Given the description of an element on the screen output the (x, y) to click on. 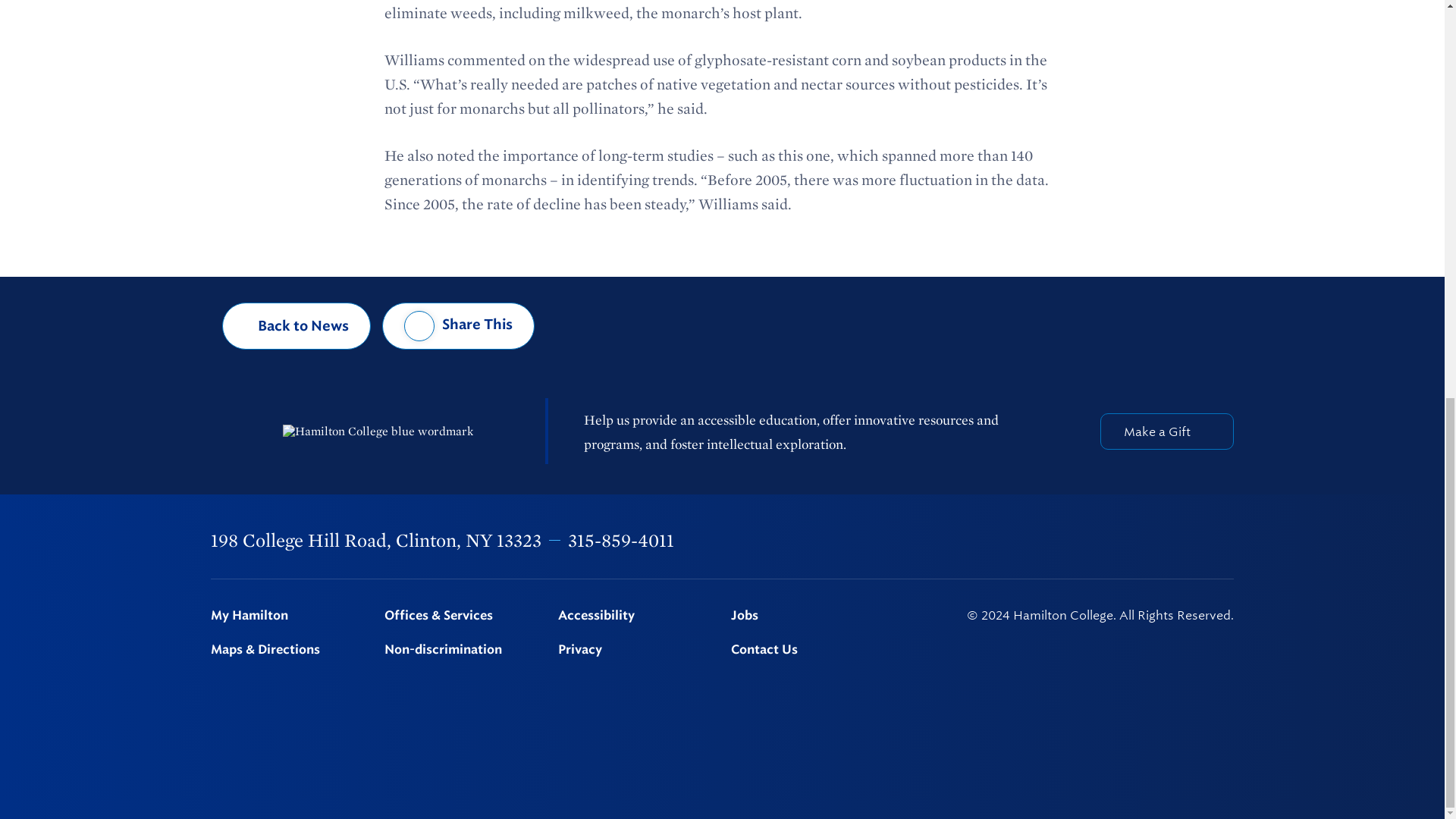
Share This (457, 325)
TikTok (1226, 540)
Back to News (296, 325)
My Hamilton (288, 615)
198 College Hill Road, Clinton, NY 13323 (375, 540)
Linkedin (1149, 540)
Twitter (1069, 540)
Facebook (1029, 540)
Instagram (1109, 540)
Make a Gift (1166, 431)
